Given the description of an element on the screen output the (x, y) to click on. 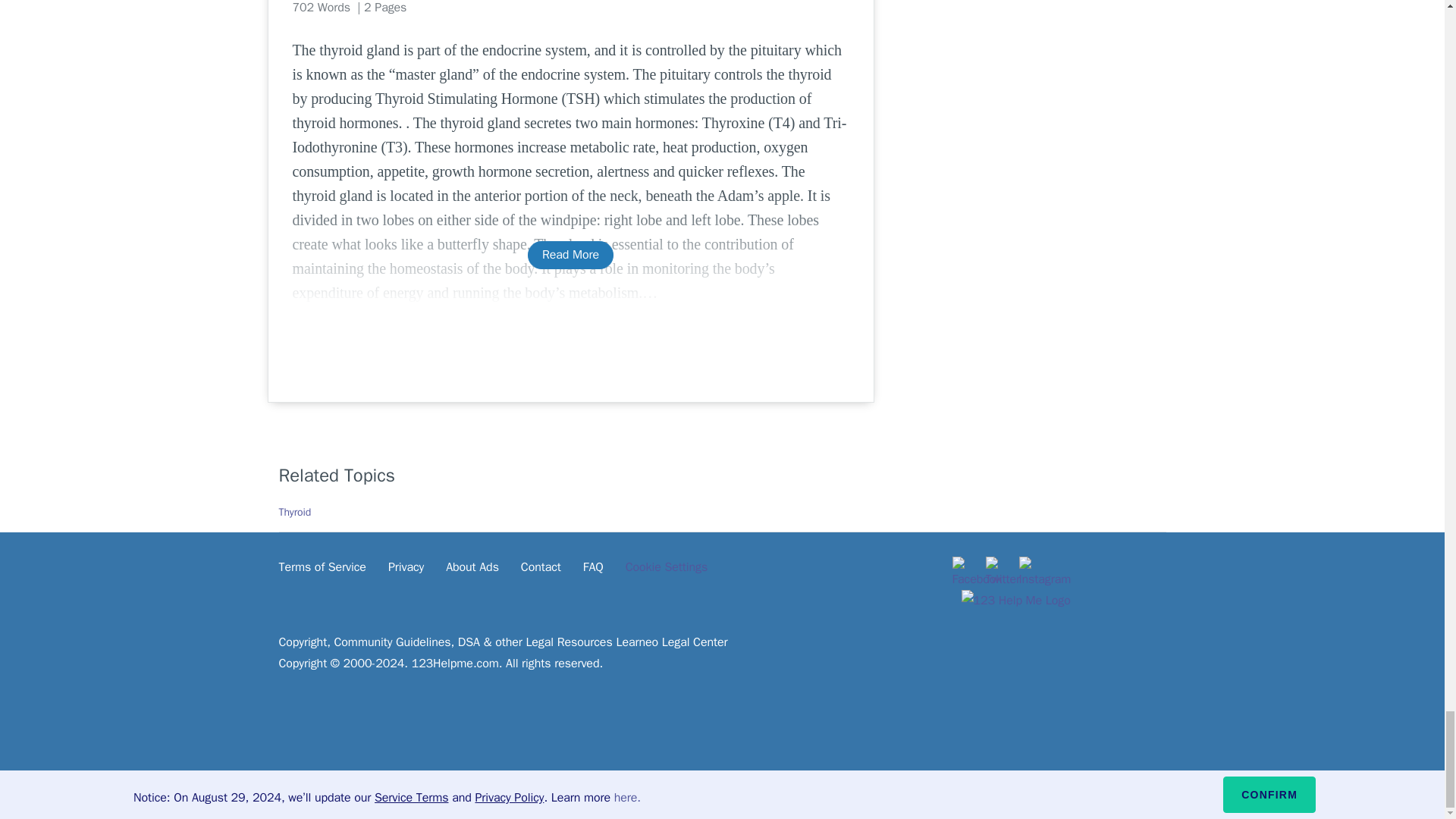
Thyroid (295, 512)
